Given the description of an element on the screen output the (x, y) to click on. 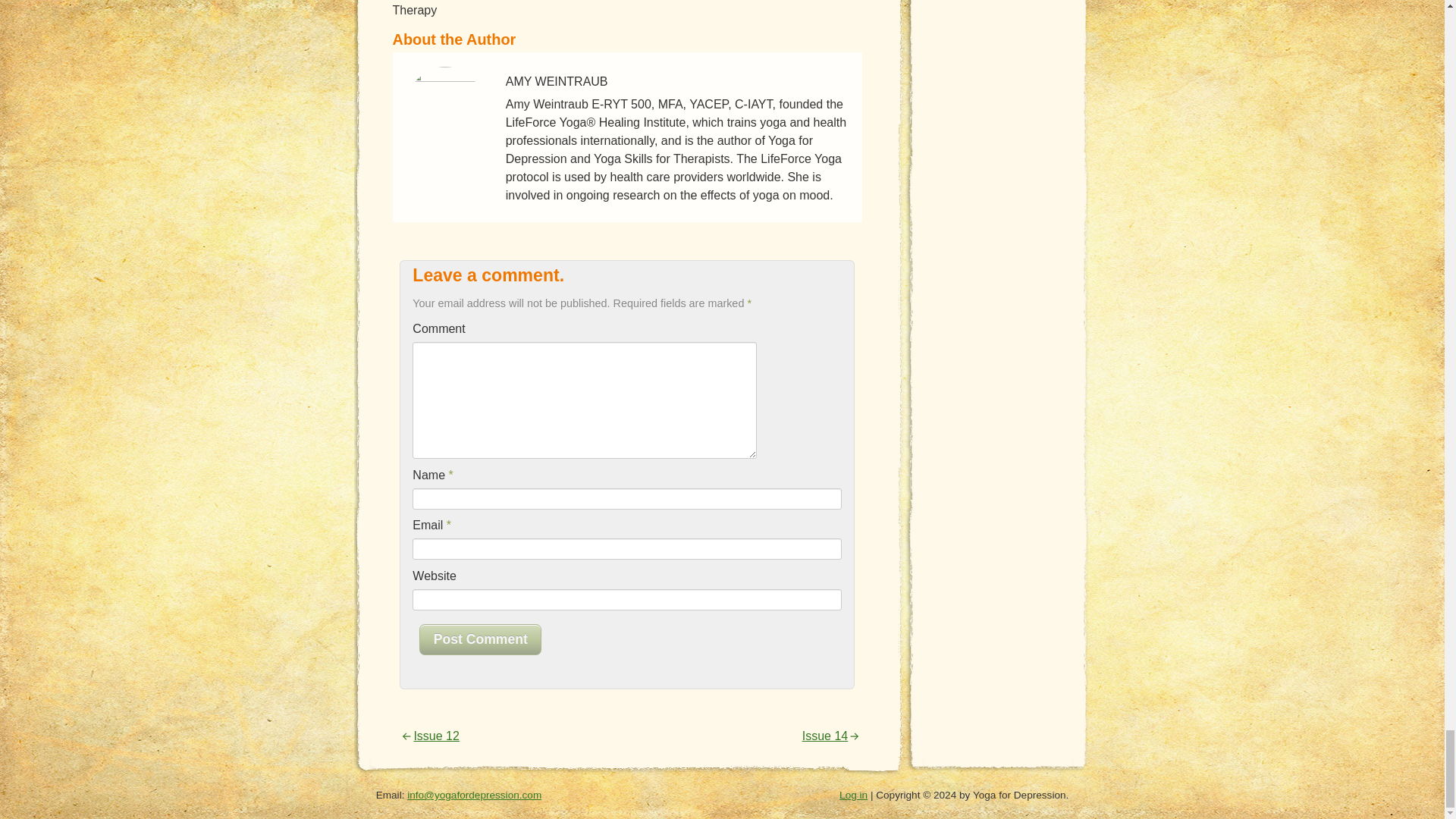
Next (831, 735)
Post Comment (480, 639)
Previous (428, 735)
